Given the description of an element on the screen output the (x, y) to click on. 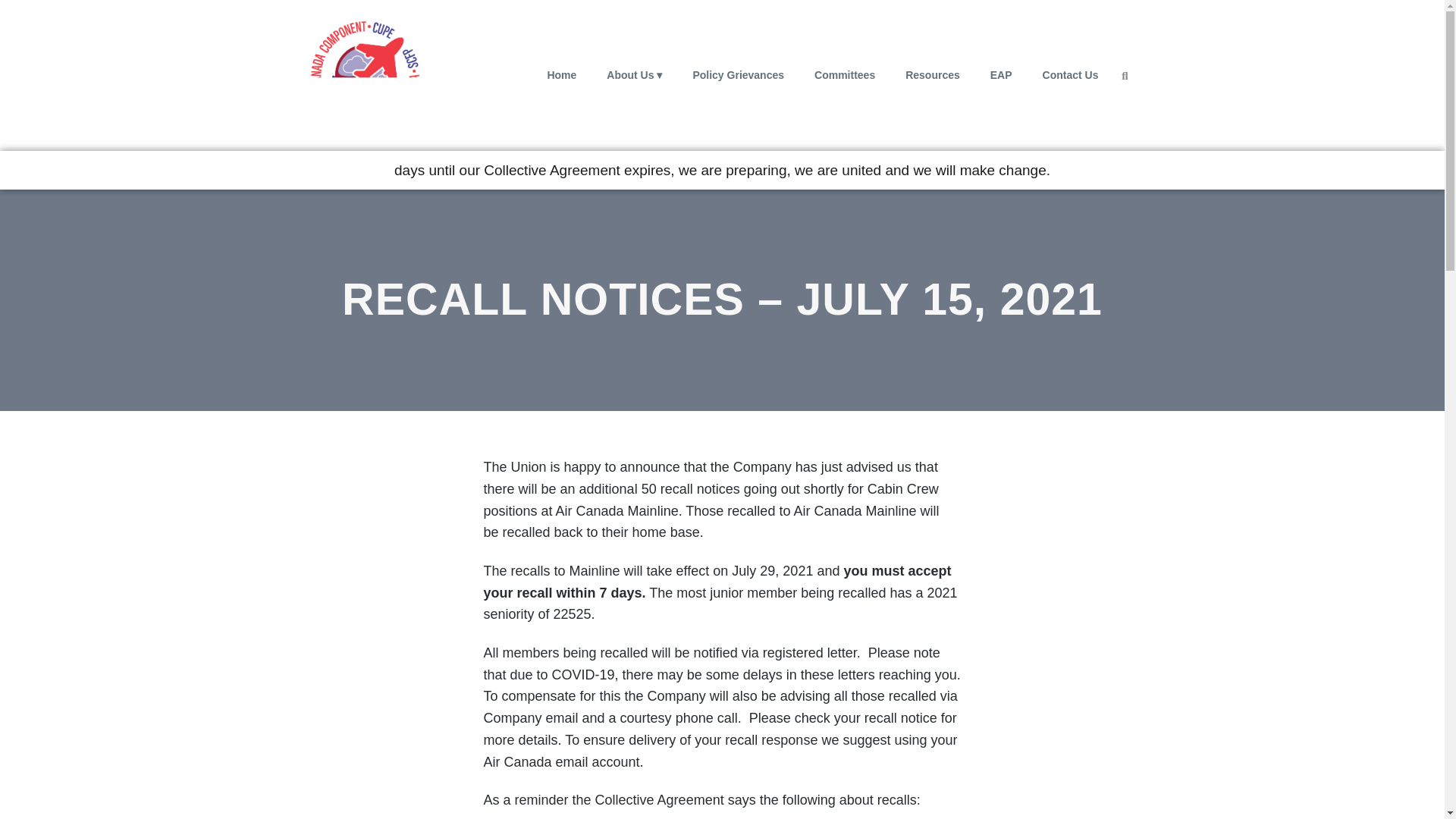
Resources (932, 74)
Home (561, 74)
Committees (844, 74)
EAP (1001, 74)
Contact Us (1070, 74)
Policy Grievances (738, 74)
